Given the description of an element on the screen output the (x, y) to click on. 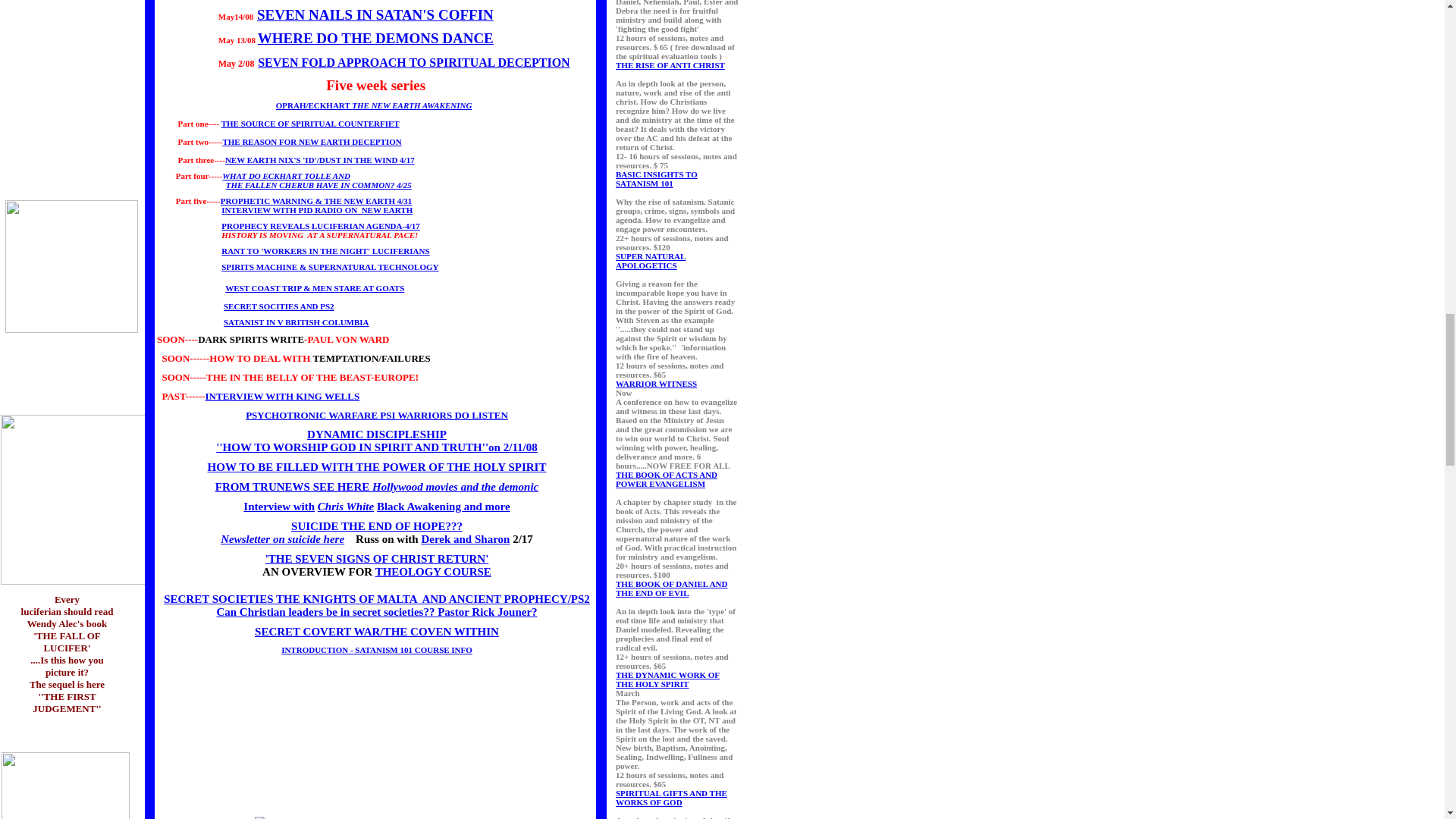
SPIRITUAL GIFTS AND THE WORKS OF GOD (670, 797)
WARRIOR WITNESS (656, 383)
LISTEN HERE (376, 558)
PID RADIO (464, 539)
SUPER NATURAL APOLOGETICS (650, 260)
click here to see study page and listen to message (377, 467)
THE BOOK OF DANIEL AND THE END OF EVIL (671, 588)
THE BOOK OF ACTS AND POWER EVANGELISM (666, 479)
click here to listen (316, 200)
FROM PREEMPTION BROADCAST (279, 306)
THE DYNAMIC WORK OF THE HOLY SPIRIT (667, 679)
BASIC INSIGHTS TO SATANISM 101 (656, 178)
click to listen direct (278, 506)
CLICK HERE TO LISTEN (293, 486)
click here to listen (444, 506)
